Given the description of an element on the screen output the (x, y) to click on. 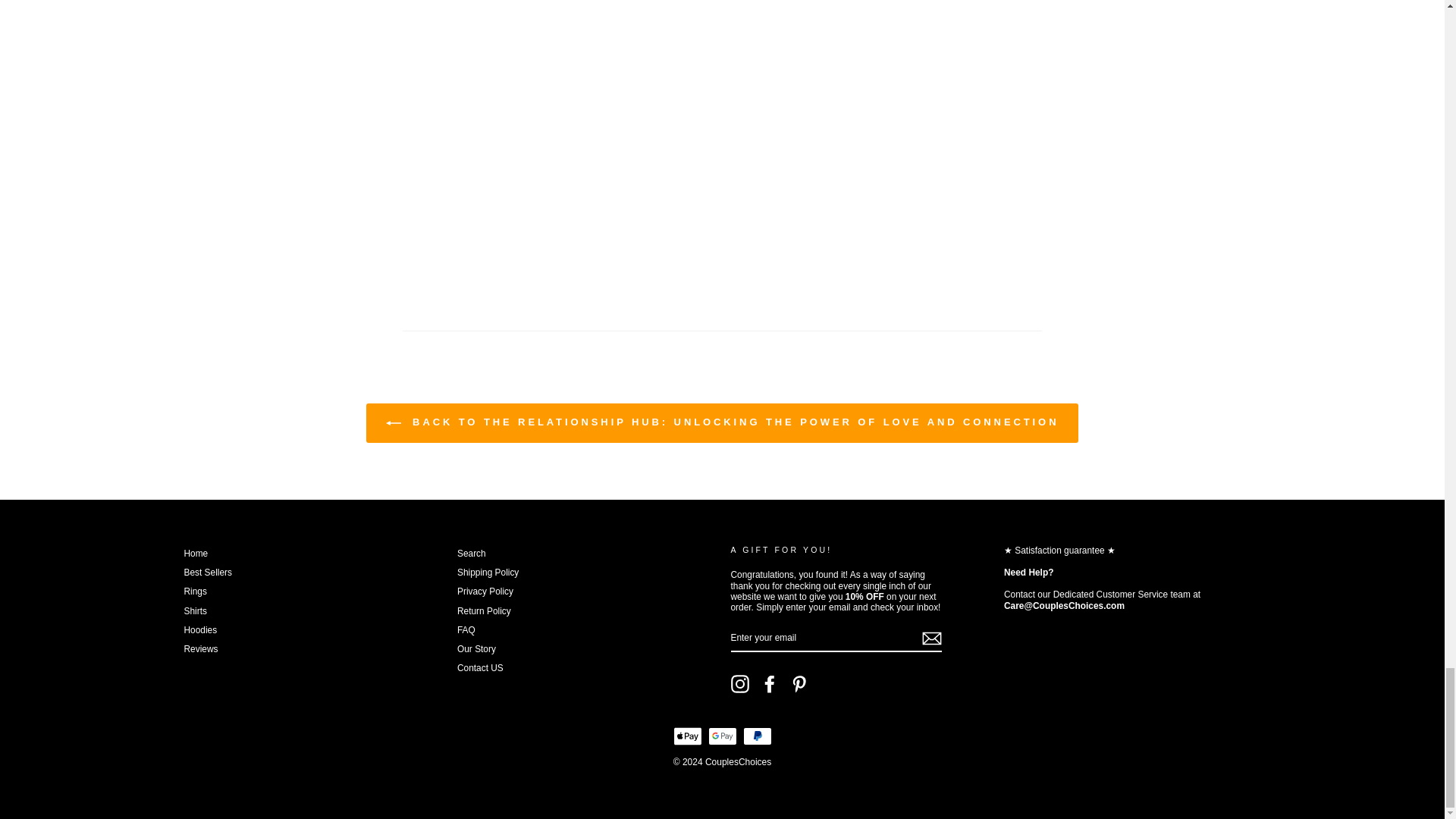
CouplesChoices on Pinterest (799, 683)
CouplesChoices on Facebook (768, 683)
CouplesChoices on Instagram (739, 683)
PayPal (756, 736)
Google Pay (721, 736)
Apple Pay (686, 736)
